Given the description of an element on the screen output the (x, y) to click on. 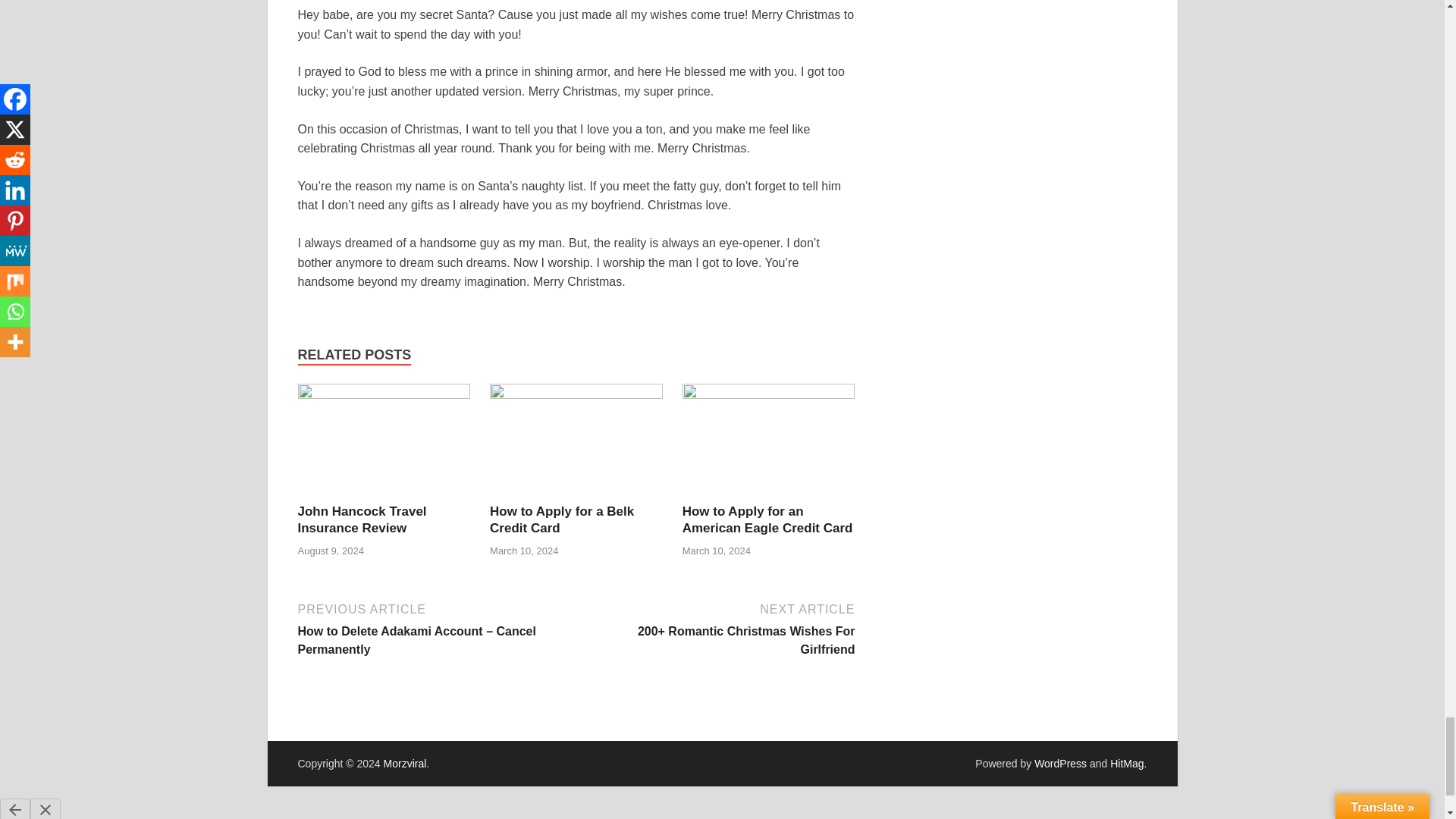
How to Apply for a Belk Credit Card (561, 519)
John Hancock Travel Insurance Review (361, 519)
How to Apply for an American Eagle Credit Card (767, 519)
